Given the description of an element on the screen output the (x, y) to click on. 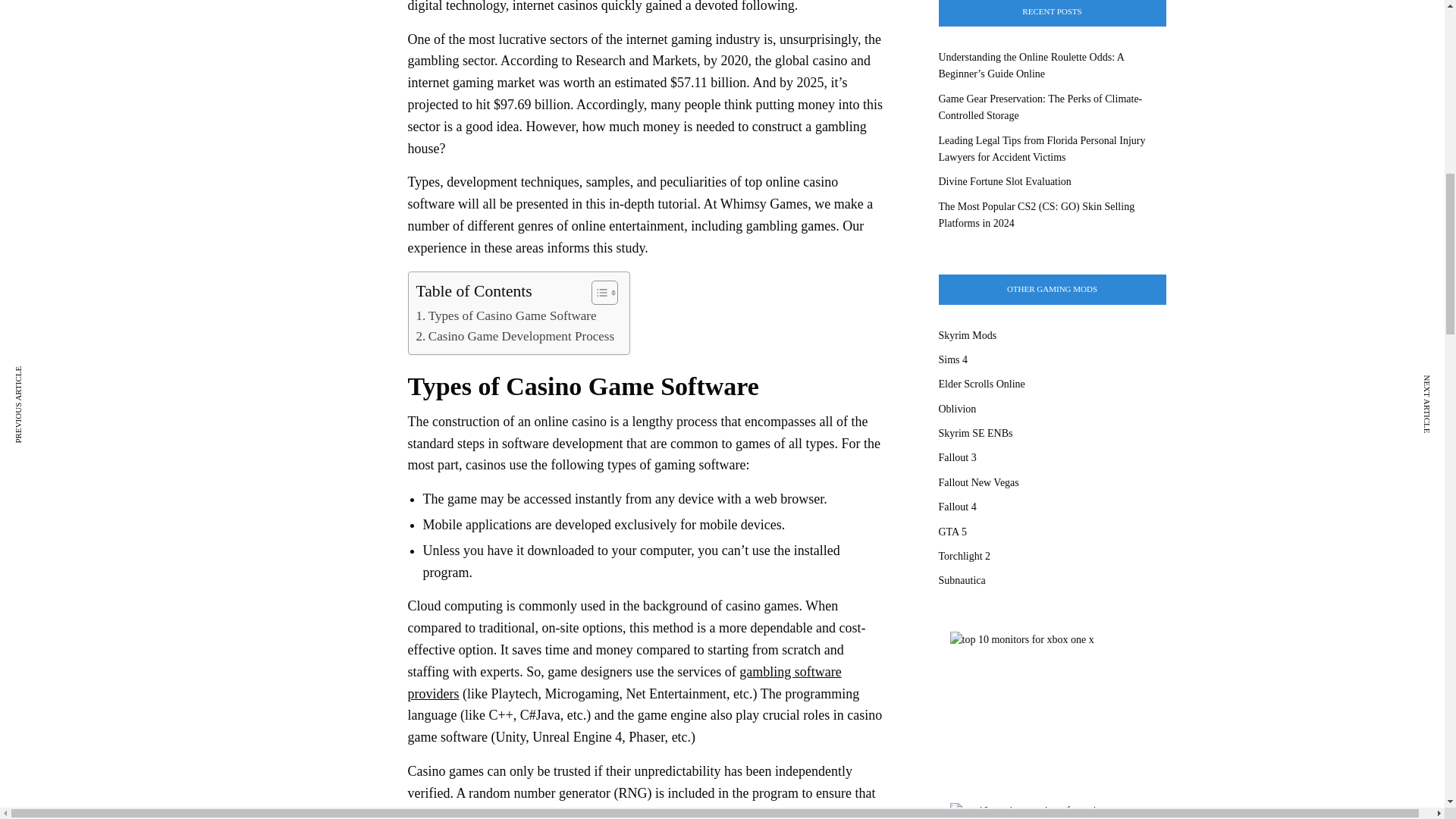
gambling software providers (624, 682)
Types of Casino Game Software (504, 315)
Types of Casino Game Software (504, 315)
Casino Game Development Process (514, 335)
Elder Scrolls Online (982, 383)
Sims 4 (953, 359)
Skyrim Mods (968, 335)
Casino Game Development Process (514, 335)
